Given the description of an element on the screen output the (x, y) to click on. 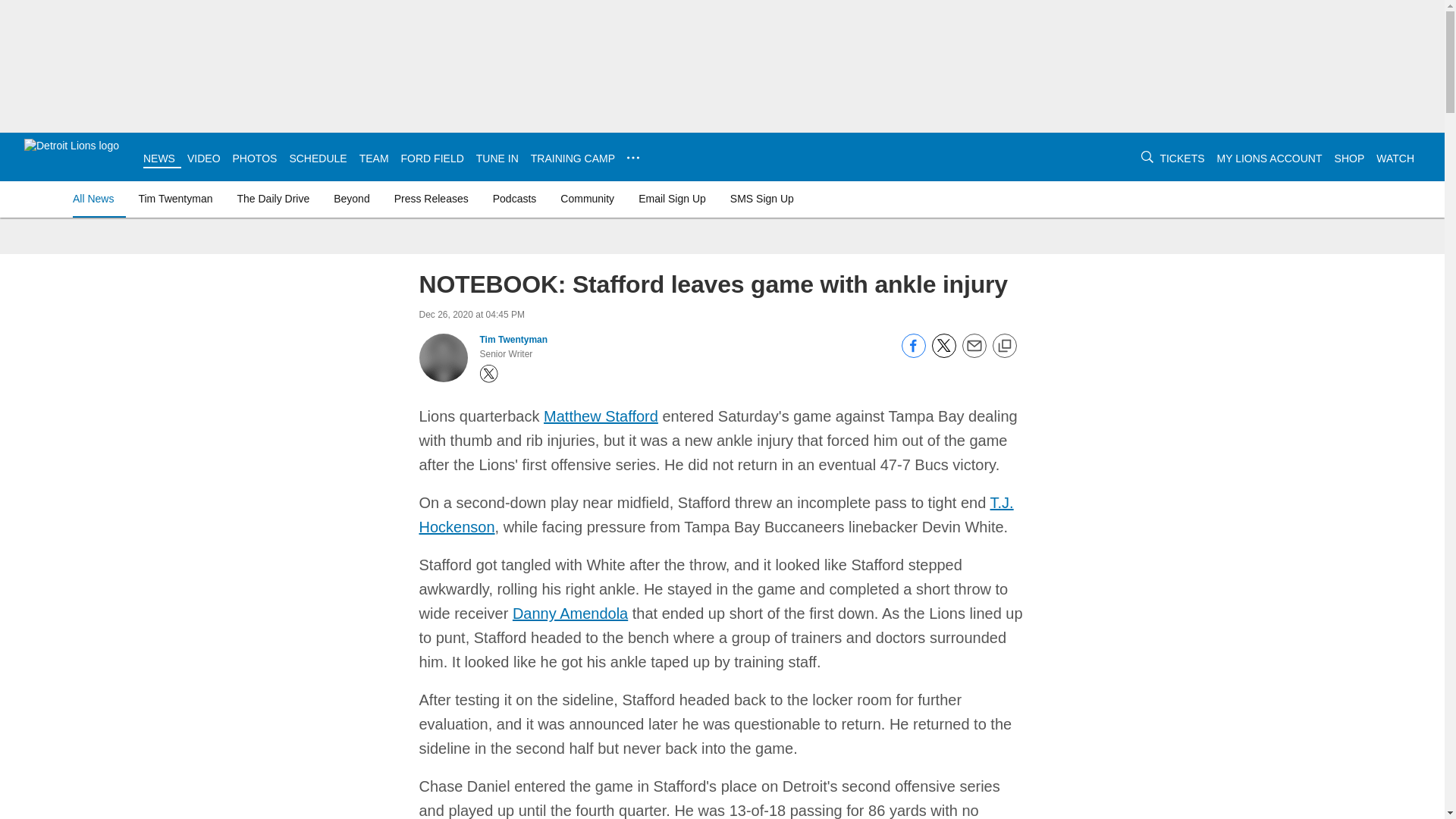
Podcasts (514, 198)
WATCH (1394, 158)
PHOTOS (255, 158)
Email Sign Up (671, 198)
TRAINING CAMP (572, 158)
SCHEDULE (317, 158)
Beyond (351, 198)
FORD FIELD (432, 158)
PHOTOS (255, 158)
VIDEO (204, 158)
MY LIONS ACCOUNT (1269, 158)
All News (95, 198)
TRAINING CAMP (572, 158)
Community (587, 198)
TUNE IN (497, 158)
